Given the description of an element on the screen output the (x, y) to click on. 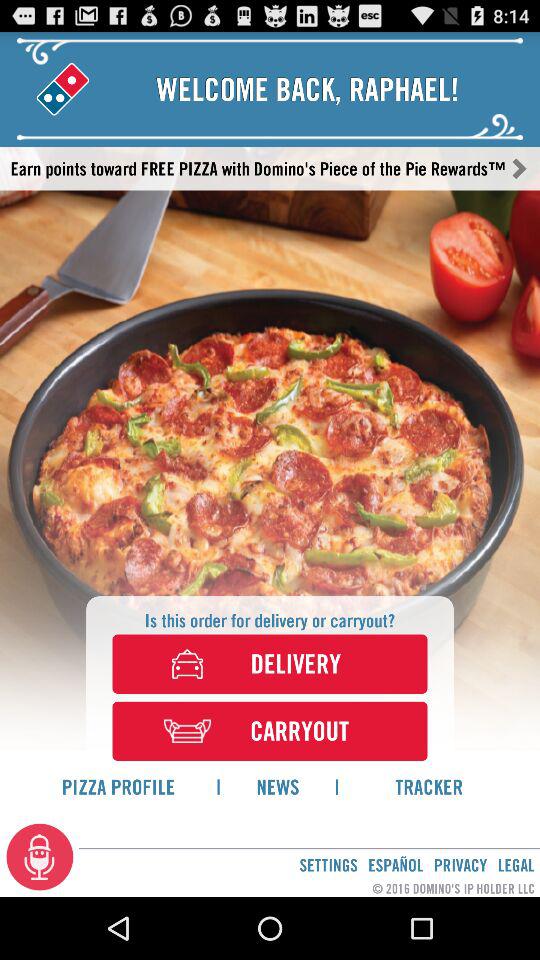
scroll to legal app (516, 864)
